Given the description of an element on the screen output the (x, y) to click on. 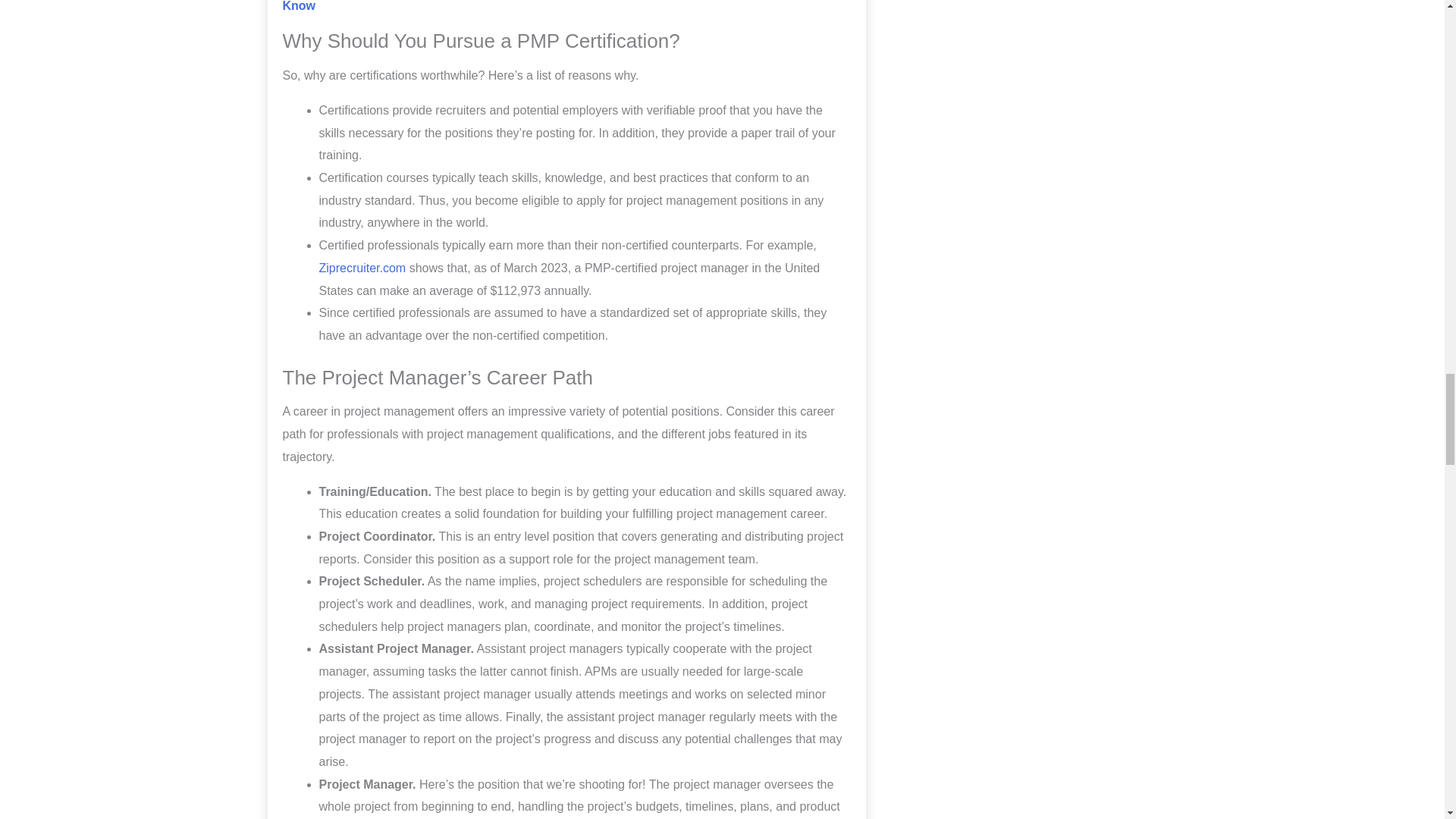
Ziprecruiter.com (362, 267)
